Given the description of an element on the screen output the (x, y) to click on. 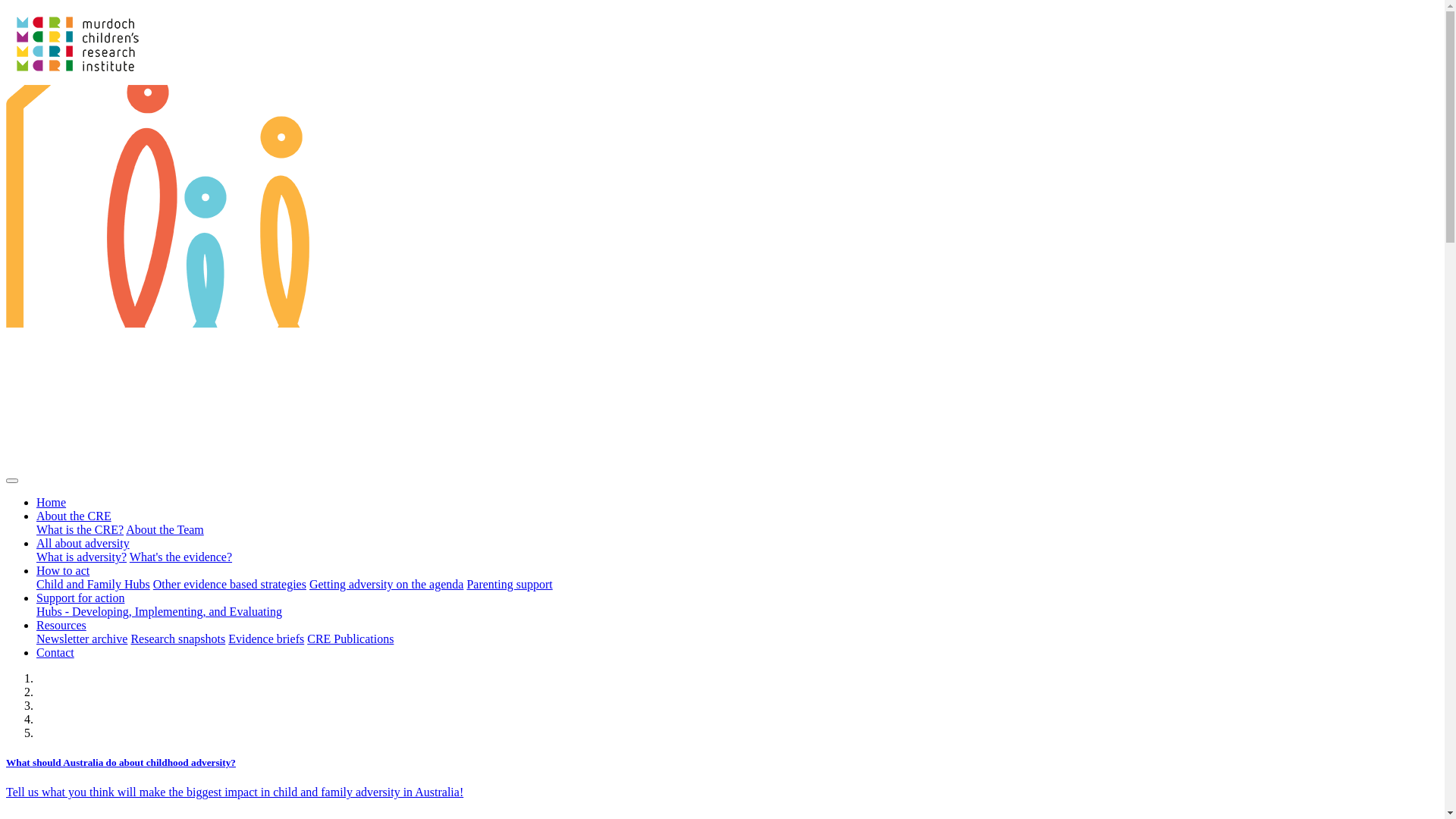
What's the evidence? Element type: text (180, 556)
Research snapshots Element type: text (177, 638)
Parenting support Element type: text (509, 583)
Evidence briefs Element type: text (266, 638)
Contact Element type: text (55, 652)
Newsletter archive Element type: text (81, 638)
Hubs - Developing, Implementing, and Evaluating Element type: text (159, 611)
Resources Element type: text (61, 624)
About the Team Element type: text (164, 529)
Other evidence based strategies Element type: text (229, 583)
How to act Element type: text (62, 570)
Child and Family Hubs Element type: text (93, 583)
All about adversity Element type: text (82, 542)
Support for action Element type: text (80, 597)
Getting adversity on the agenda Element type: text (386, 583)
CRE Publications Element type: text (350, 638)
What is adversity? Element type: text (81, 556)
What is the CRE? Element type: text (79, 529)
About the CRE Element type: text (73, 515)
Home Element type: text (50, 501)
What should Australia do about childhood adversity? Element type: text (722, 762)
